Given the description of an element on the screen output the (x, y) to click on. 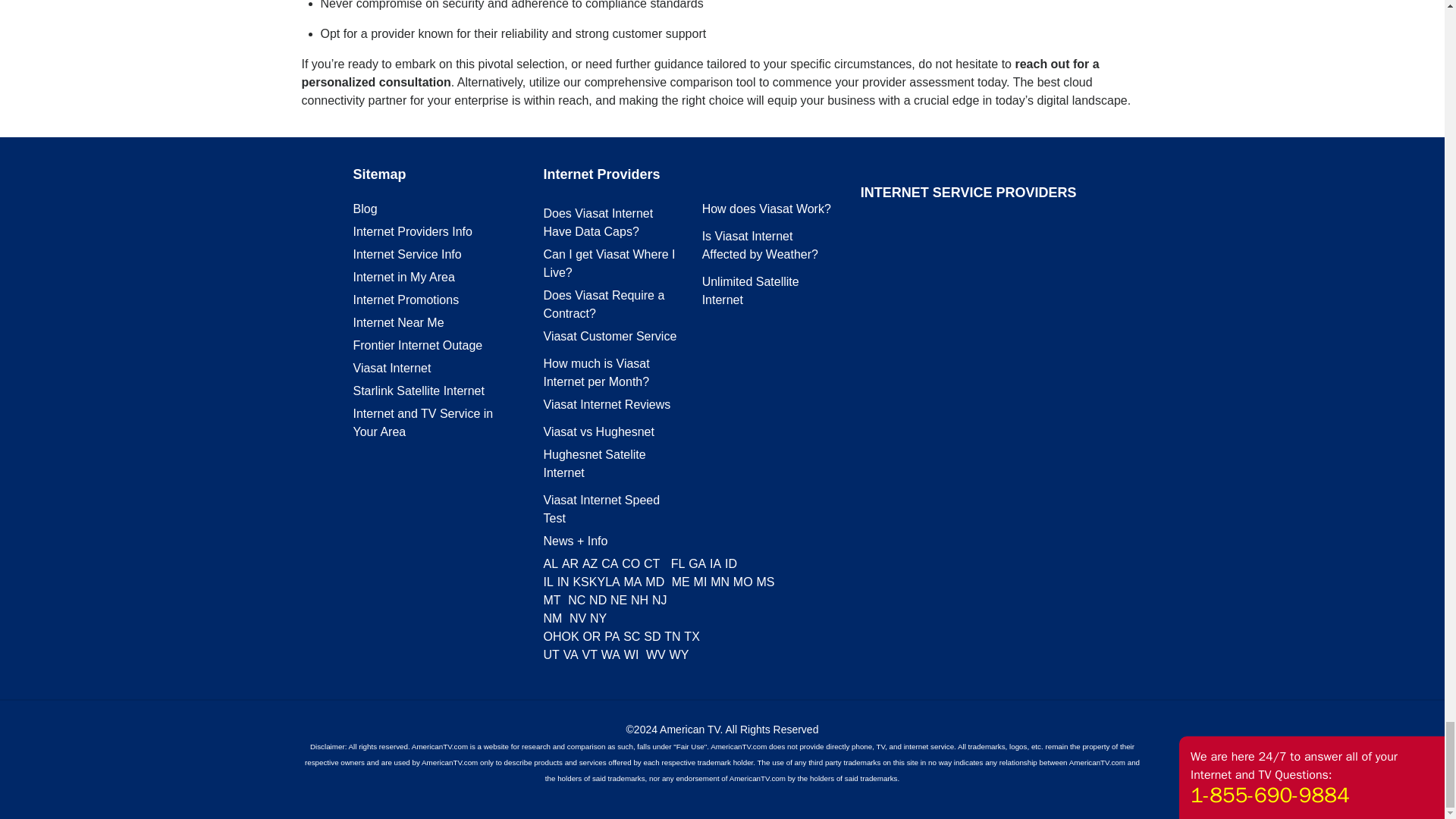
Viasat Customer Service (610, 336)
Internet Promotions (406, 299)
Does Viasat Internet Have Data Caps? (597, 222)
CA (609, 563)
Arizona (589, 563)
Internet Providers Info (412, 231)
Viasat Internet Reviews (606, 404)
Idaho (730, 563)
Hughesnet Satelite Internet (594, 463)
Massachusetts (632, 581)
Colorado (630, 563)
Connecticut (651, 563)
Is Viasat Internet Affected by Weather? (759, 245)
Viasat vs Hughesnet (598, 431)
Viasat Internet (391, 367)
